Given the description of an element on the screen output the (x, y) to click on. 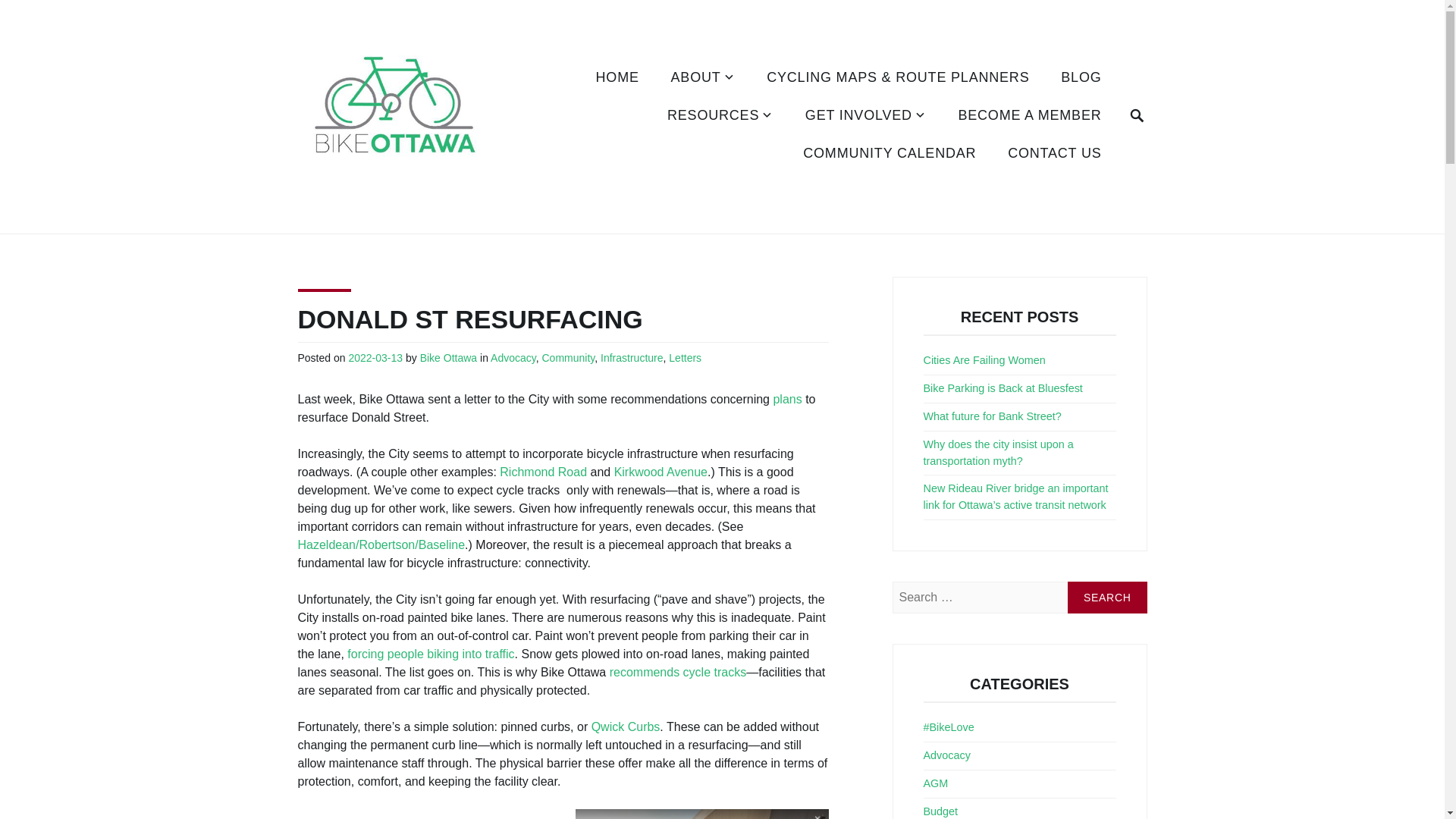
CONTACT US (1053, 154)
HOME (617, 78)
Letters (684, 358)
Infrastructure (630, 358)
BIKE OTTAWA (385, 232)
Kirkwood Avenue (660, 472)
Search (1107, 597)
2022-03-13 (375, 358)
GET INVOLVED (865, 116)
Advocacy (512, 358)
Community (567, 358)
forcing people biking into traffic (430, 654)
recommends (644, 672)
Qwick Curbs (626, 727)
Bike Ottawa (448, 358)
